Given the description of an element on the screen output the (x, y) to click on. 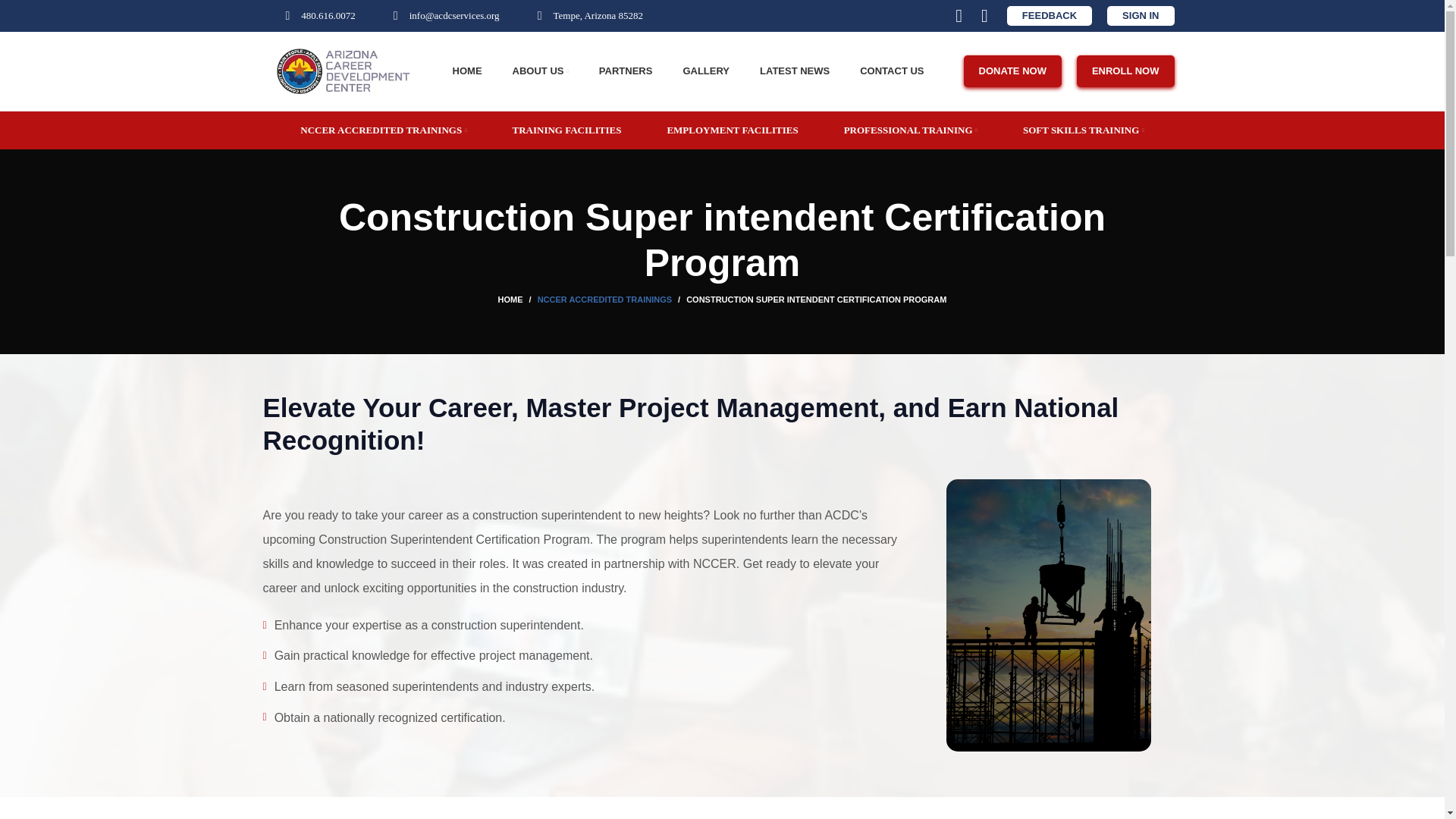
DONATE NOW (1012, 70)
HOME (466, 71)
FEEDBACK (1049, 15)
SOFT SKILLS TRAINING (1083, 130)
ABOUT US (540, 71)
Tempe, Arizona 85282 (586, 15)
EMPLOYMENT FACILITIES (731, 130)
GALLERY (705, 71)
LATEST NEWS (794, 71)
PROFESSIONAL TRAINING (910, 130)
TRAINING FACILITIES (566, 130)
NCCER ACCREDITED TRAININGS (382, 130)
SIGN IN (1139, 15)
480.616.0072 (315, 15)
PARTNERS (625, 71)
